Given the description of an element on the screen output the (x, y) to click on. 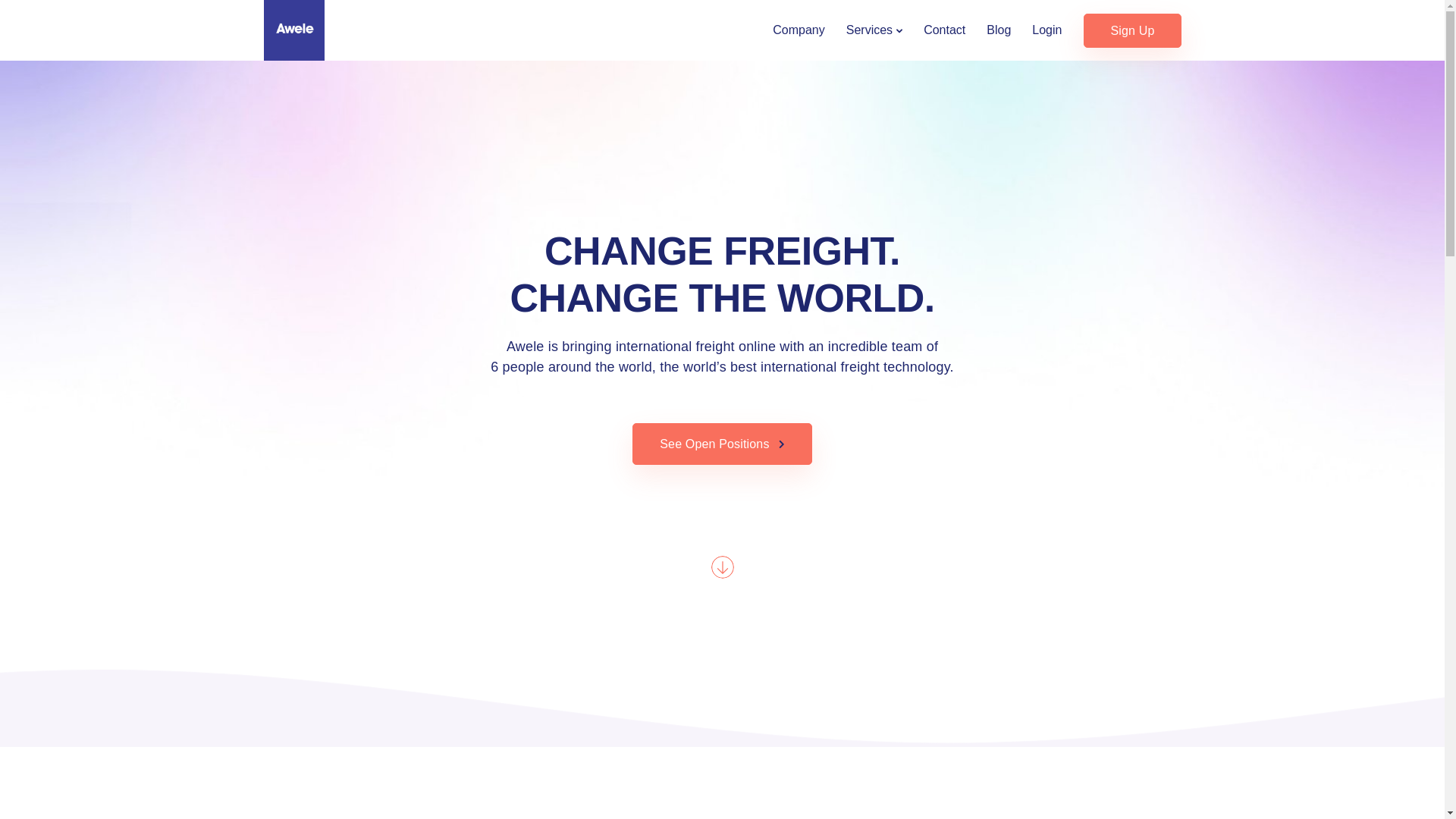
Instagram Element type: text (547, 677)
Privacy Policy Element type: text (868, 796)
Twitter Element type: text (357, 677)
Sign Up Element type: text (1131, 30)
Contact Element type: text (944, 30)
See Open Positions Element type: text (721, 443)
LinkedIn Element type: text (620, 677)
Terms of Use Element type: text (792, 796)
Tiktok Element type: text (481, 677)
Login Element type: text (1046, 30)
Services Element type: text (874, 30)
Blog Element type: text (998, 30)
Youtube Element type: text (420, 677)
Facebook Element type: text (290, 677)
Company Element type: text (798, 30)
